Given the description of an element on the screen output the (x, y) to click on. 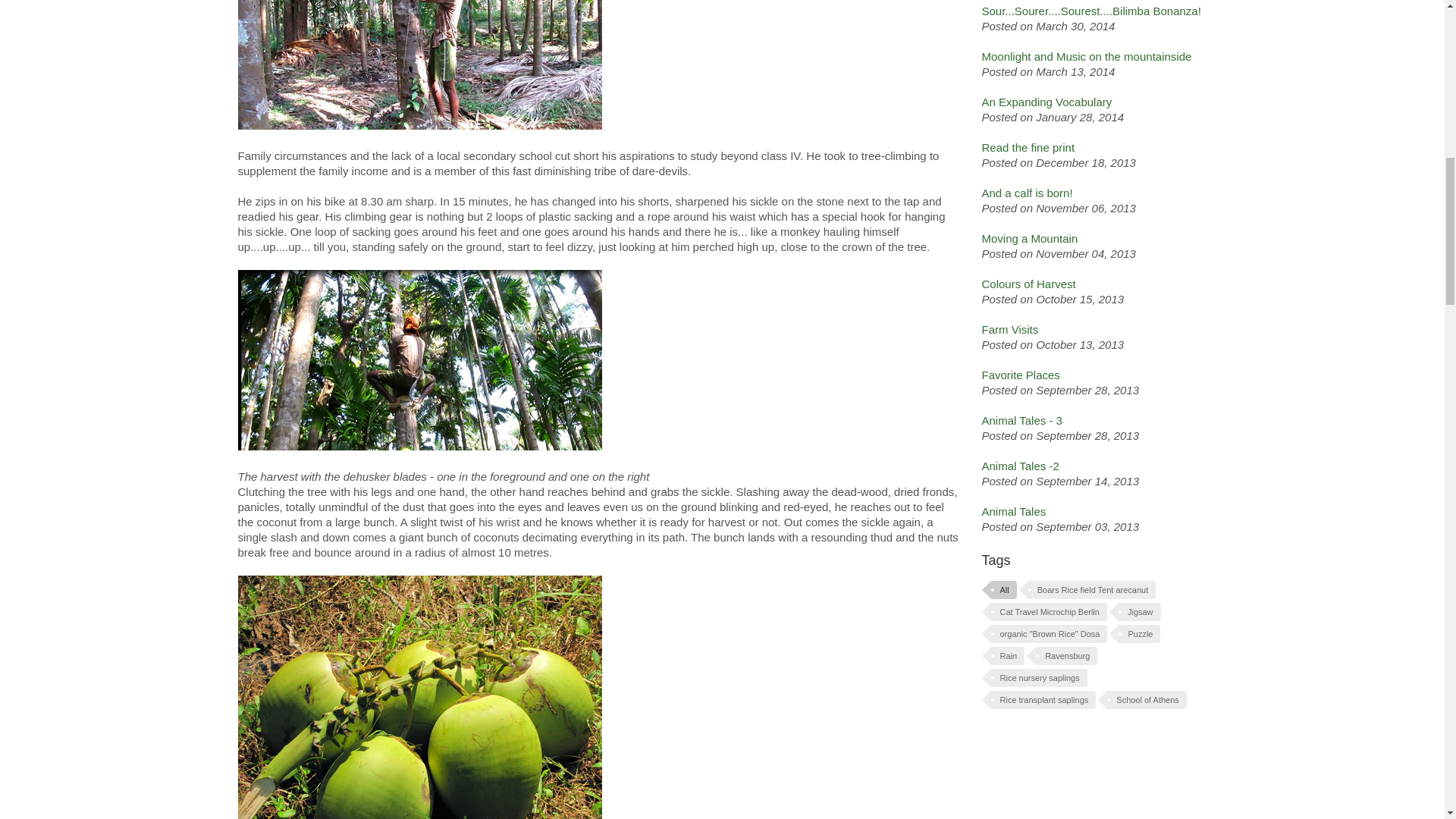
Show articles tagged Rice transplant saplings (1043, 700)
Show articles tagged School of Athens (1146, 700)
Show articles tagged Rain (1007, 656)
Show articles tagged Ravensburg (1066, 656)
Show articles tagged Puzzle (1139, 633)
Show articles tagged Rice nursery saplings (1038, 678)
Show articles tagged organic "Brown Rice" Dosa (1048, 633)
Show articles tagged Cat Travel Microchip Berlin (1048, 611)
Show articles tagged Boars Rice field Tent arecanut (1091, 589)
Show articles tagged Jigsaw (1139, 611)
